Given the description of an element on the screen output the (x, y) to click on. 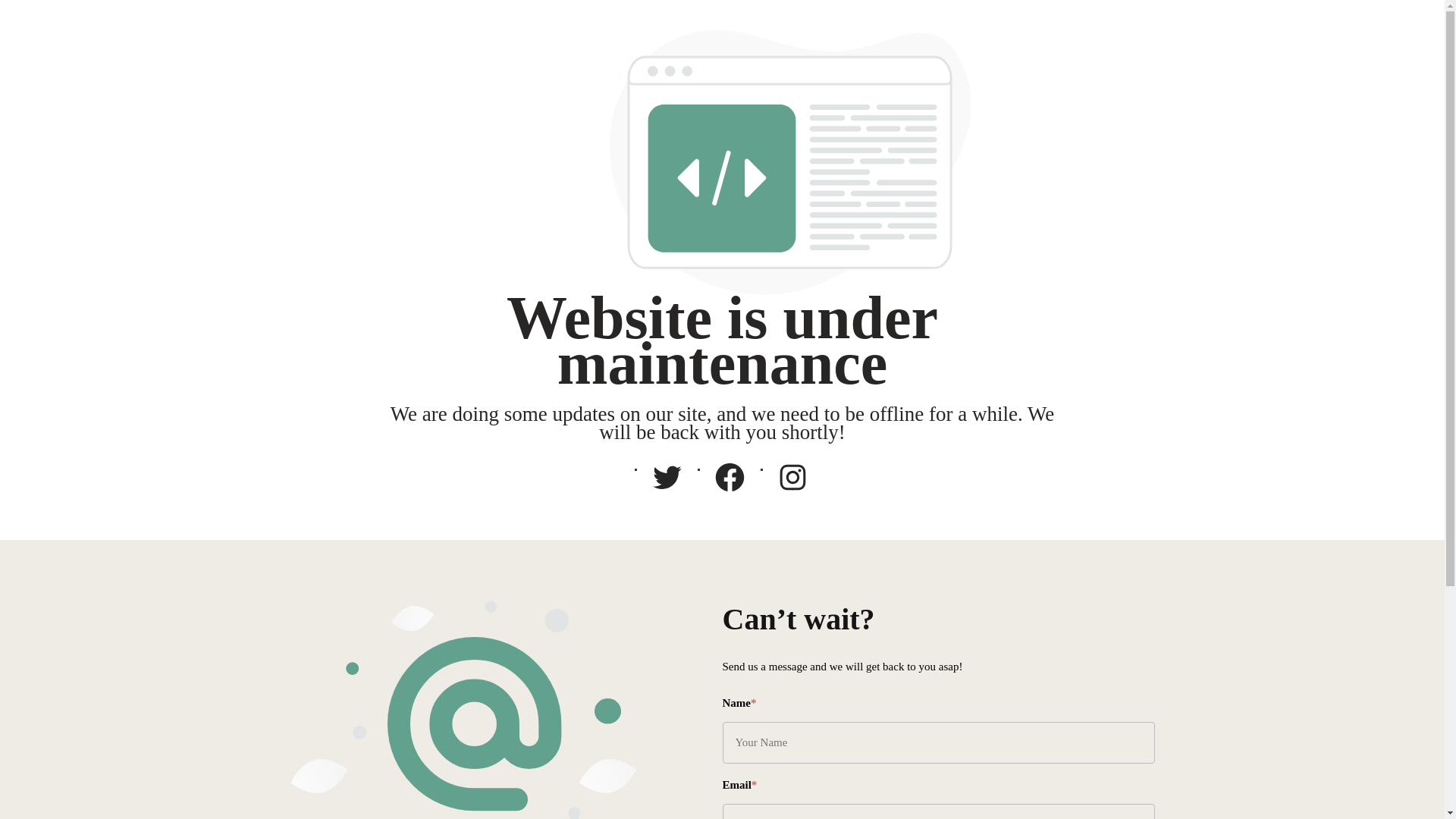
Twitter (666, 477)
Facebook (729, 477)
Instagram (792, 477)
